Given the description of an element on the screen output the (x, y) to click on. 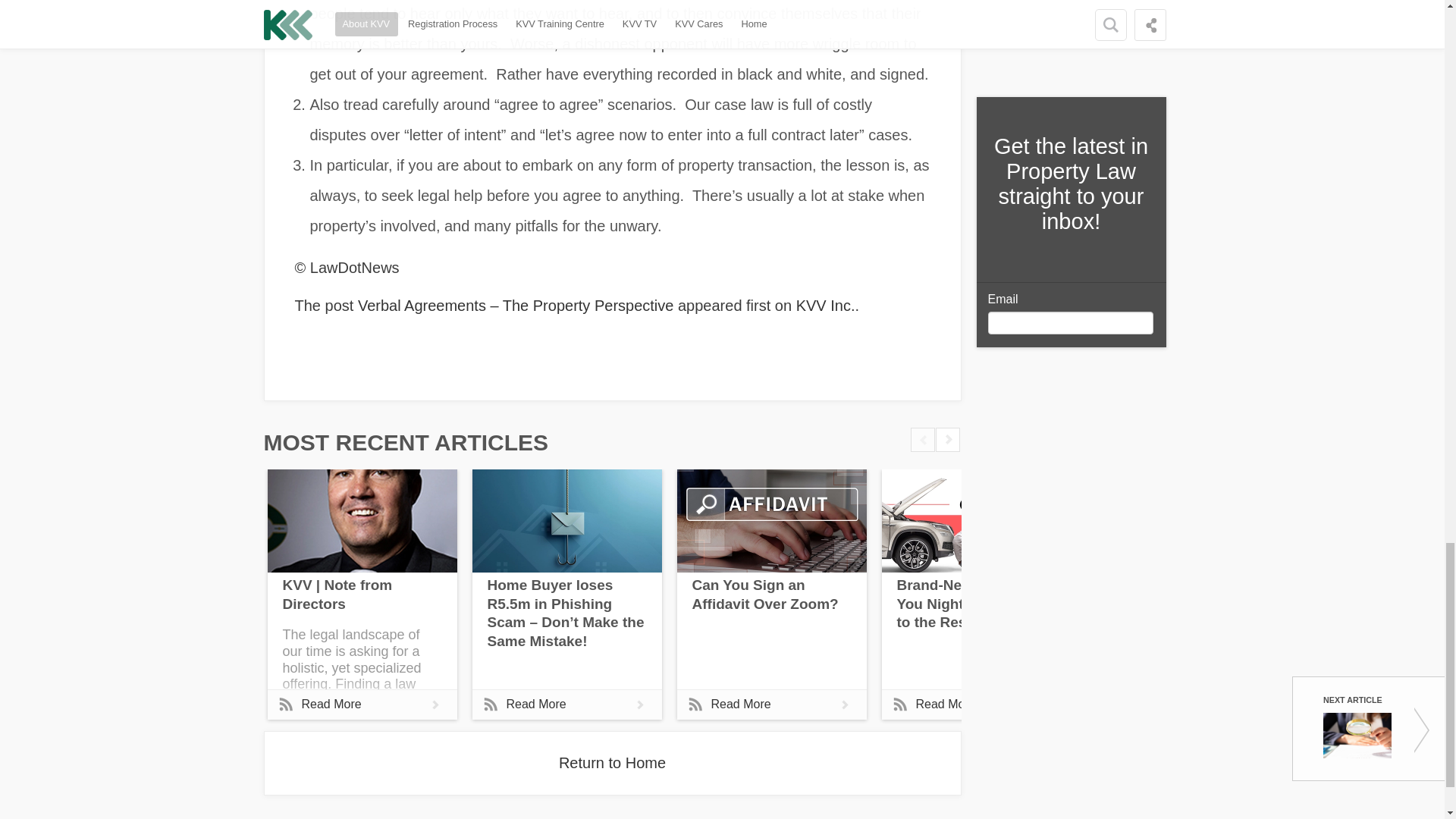
KVV Inc. (826, 305)
Read More (361, 704)
Read More (771, 704)
Read More (566, 704)
